Given the description of an element on the screen output the (x, y) to click on. 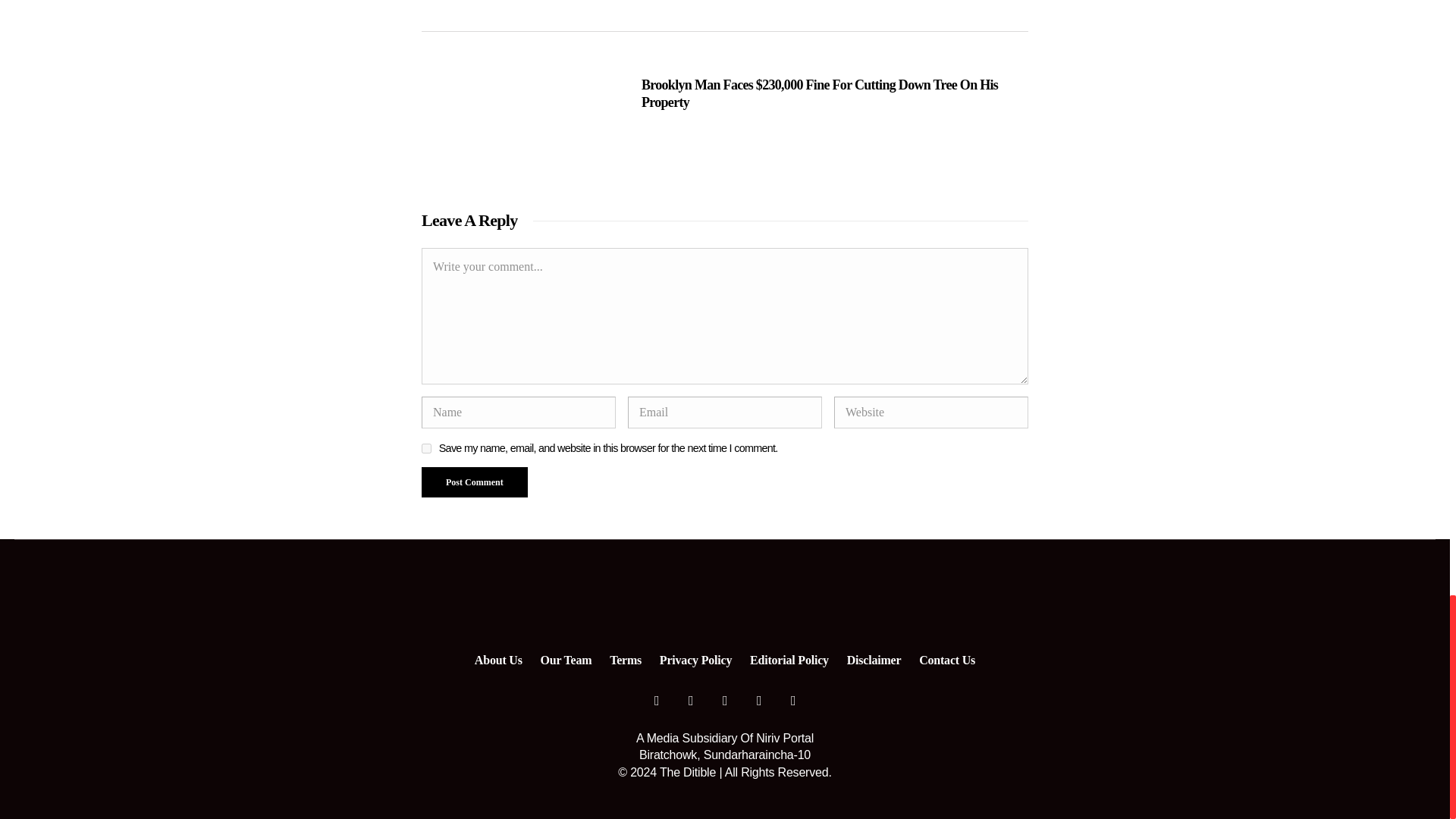
Post Comment (474, 481)
yes (426, 448)
